Given the description of an element on the screen output the (x, y) to click on. 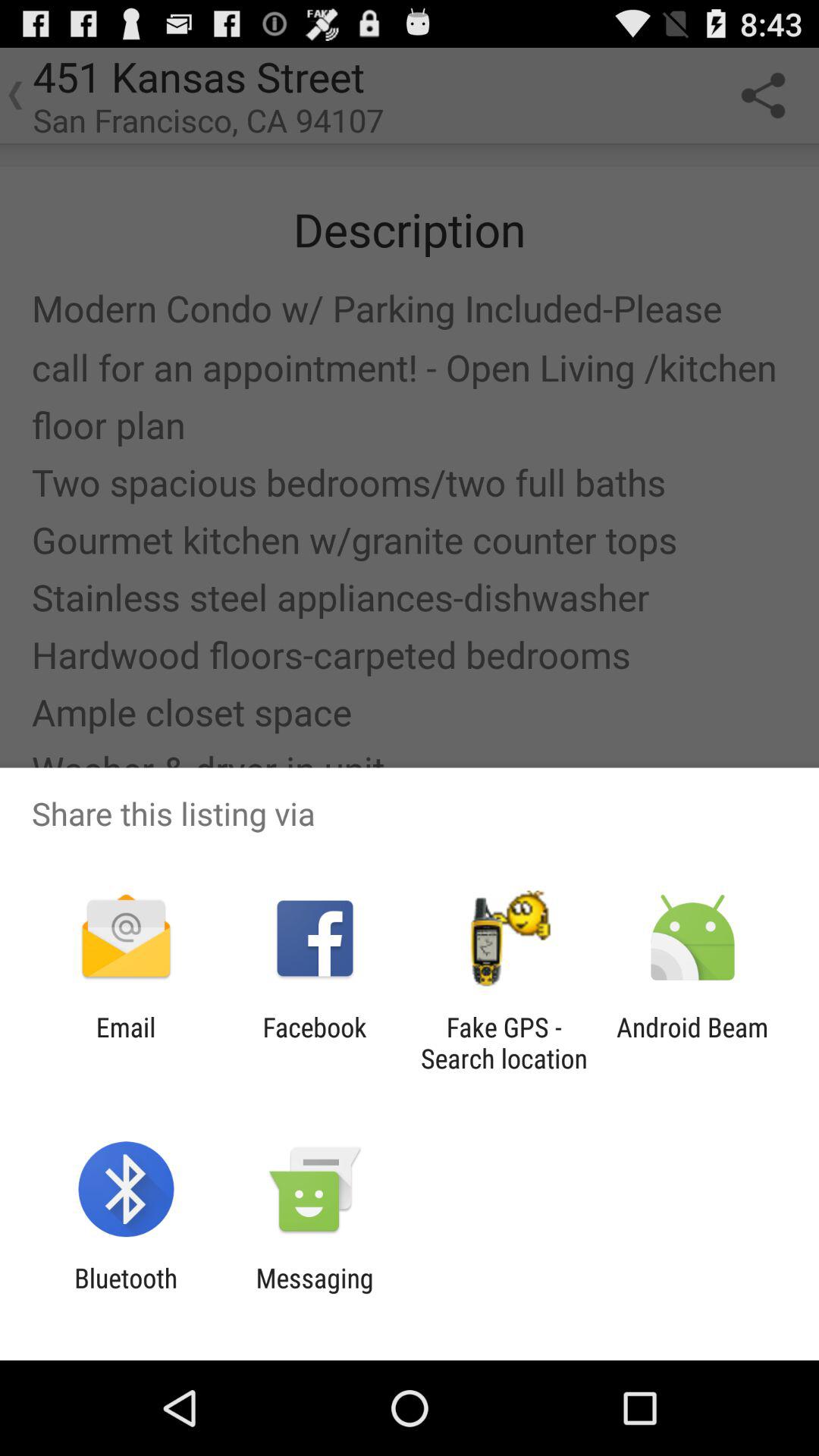
open the item next to the messaging item (125, 1293)
